Given the description of an element on the screen output the (x, y) to click on. 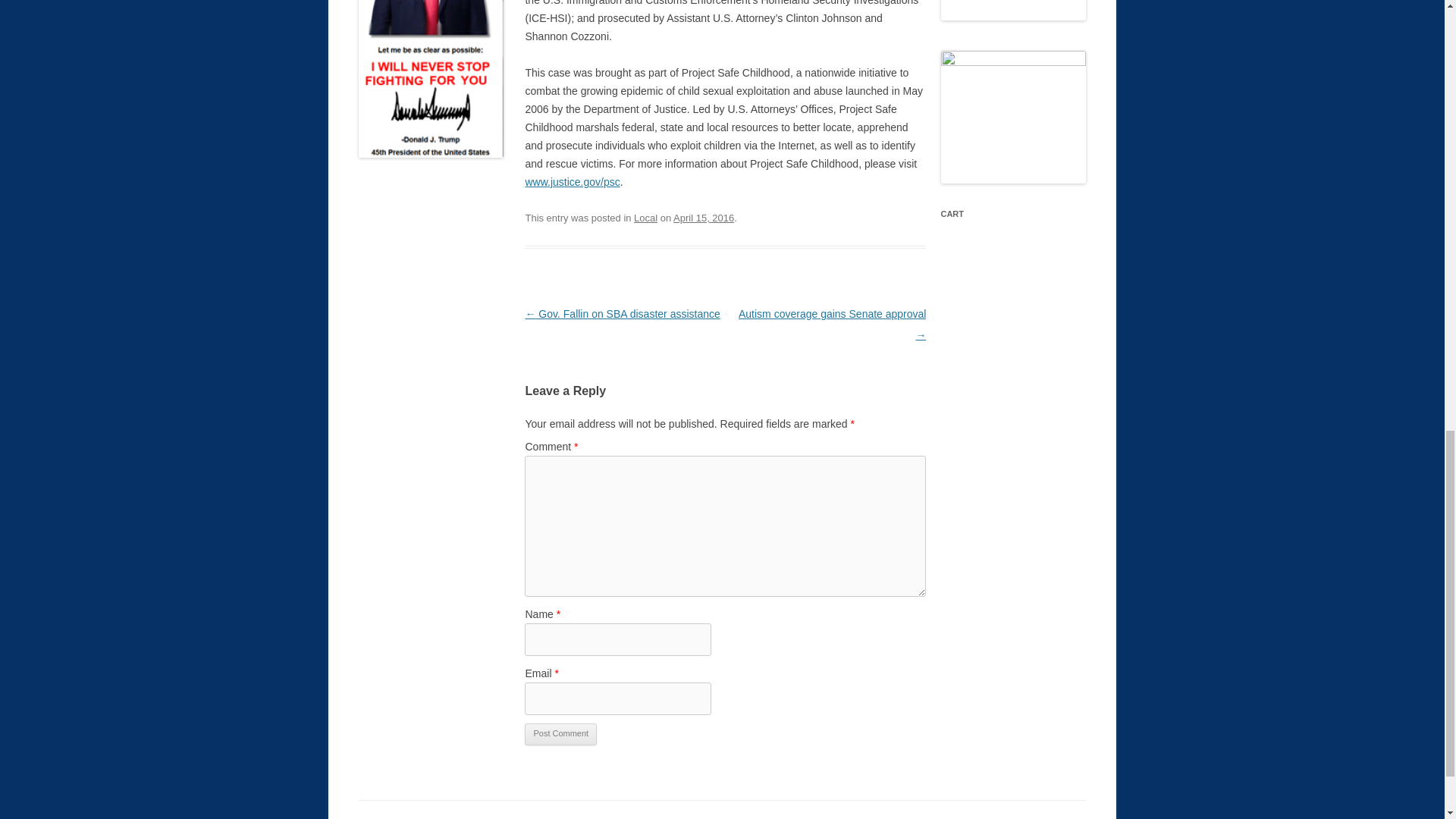
12:36 pm (702, 217)
Local (645, 217)
Post Comment (560, 734)
Post Comment (560, 734)
April 15, 2016 (702, 217)
